Given the description of an element on the screen output the (x, y) to click on. 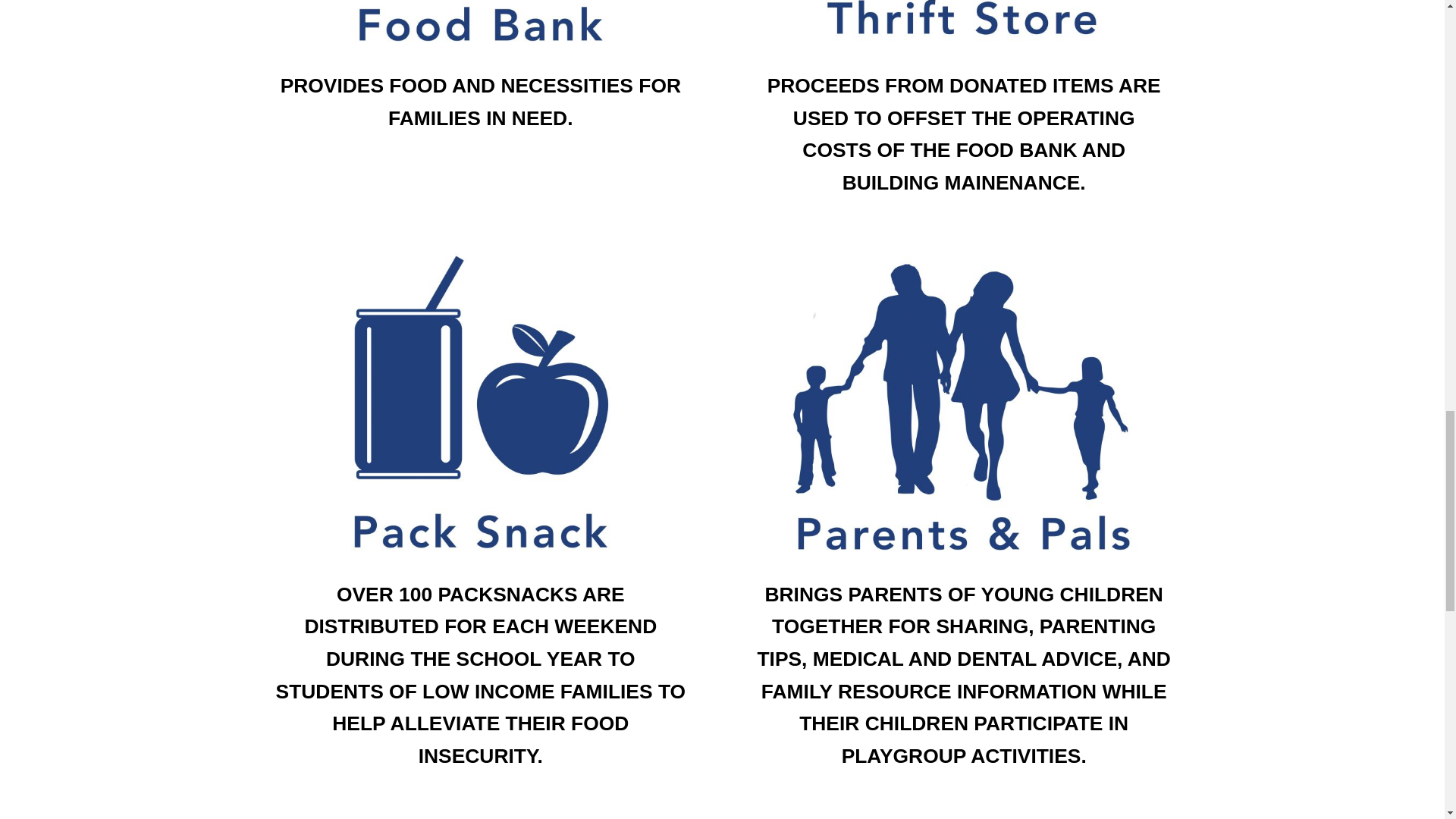
Provides food and necessities for families in need. (480, 34)
